Given the description of an element on the screen output the (x, y) to click on. 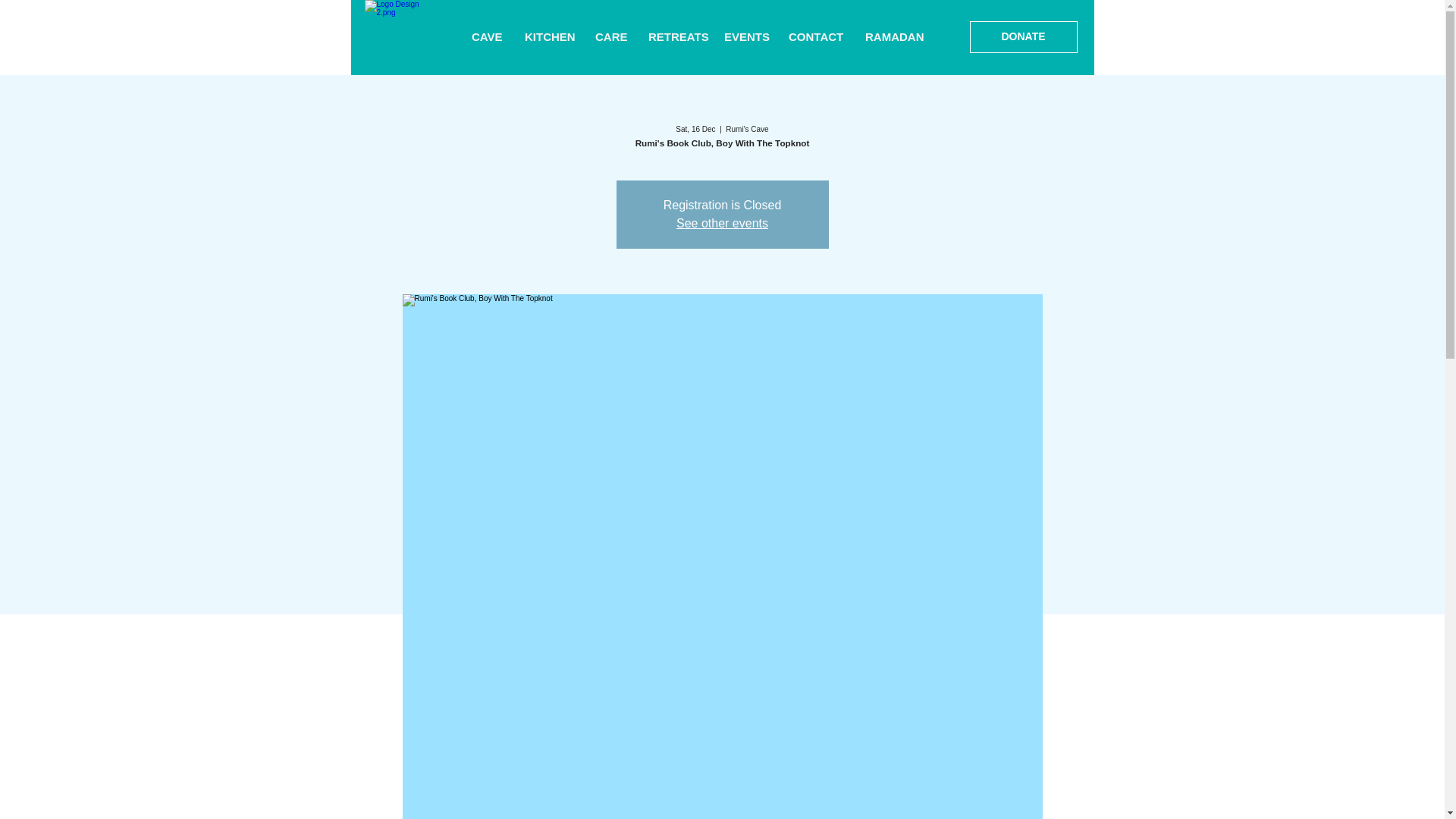
See other events (722, 223)
CAVE (486, 37)
DONATE (1023, 37)
CONTACT (815, 37)
RAMADAN (893, 37)
RETREATS (675, 37)
CARE (610, 37)
KITCHEN (548, 37)
EVENTS (745, 37)
